Given the description of an element on the screen output the (x, y) to click on. 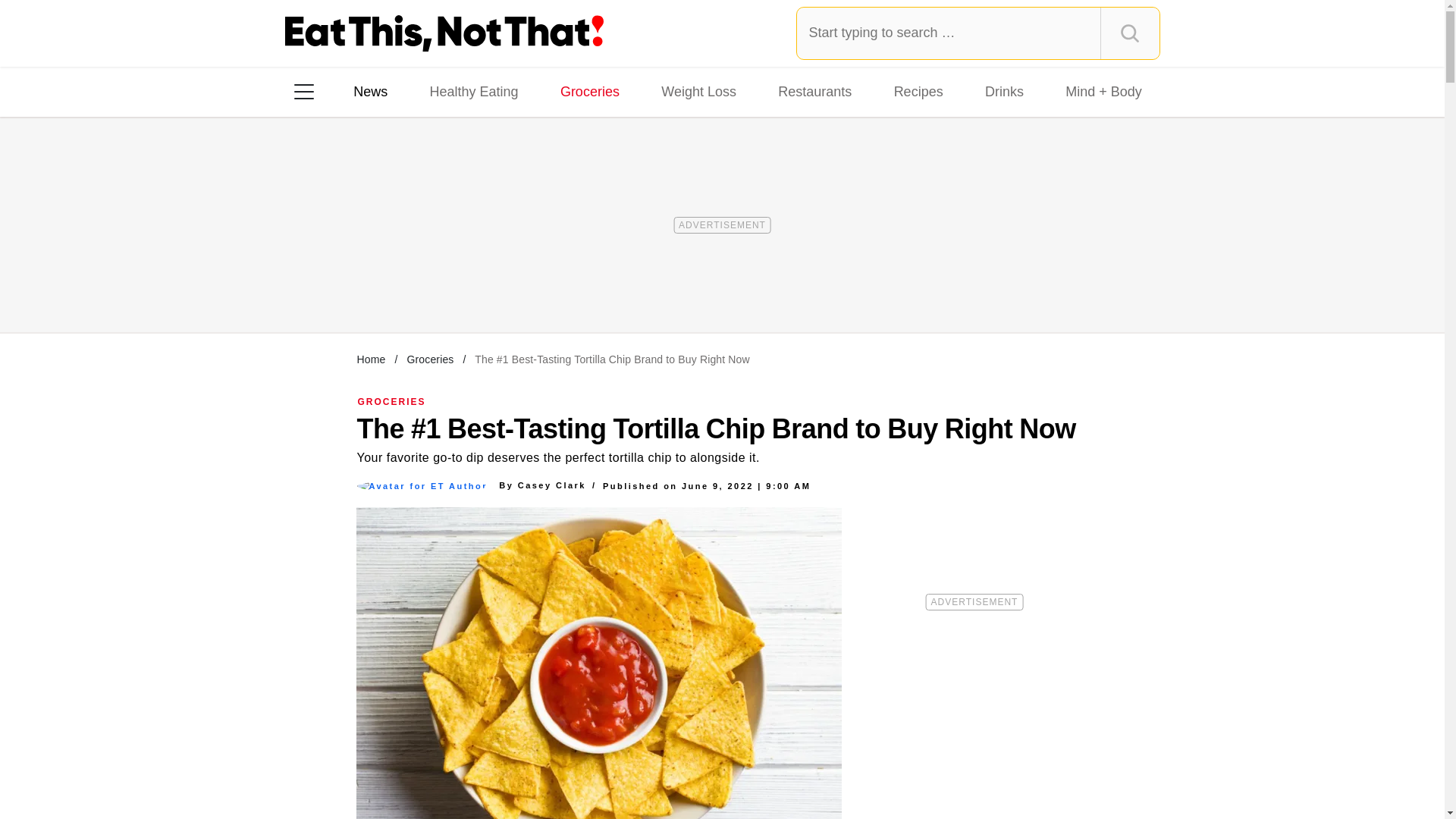
News (370, 91)
Weight Loss (698, 91)
Pinterest (443, 287)
Casey Clark (552, 484)
GROCERIES (392, 401)
Pinterest (443, 287)
Instagram (357, 287)
Groceries (429, 358)
Type and press Enter to search (978, 32)
Eat This Not That Homepage (444, 33)
Facebook (314, 287)
TikTok (399, 287)
Facebook (314, 287)
Home (370, 358)
Restaurants (814, 91)
